Given the description of an element on the screen output the (x, y) to click on. 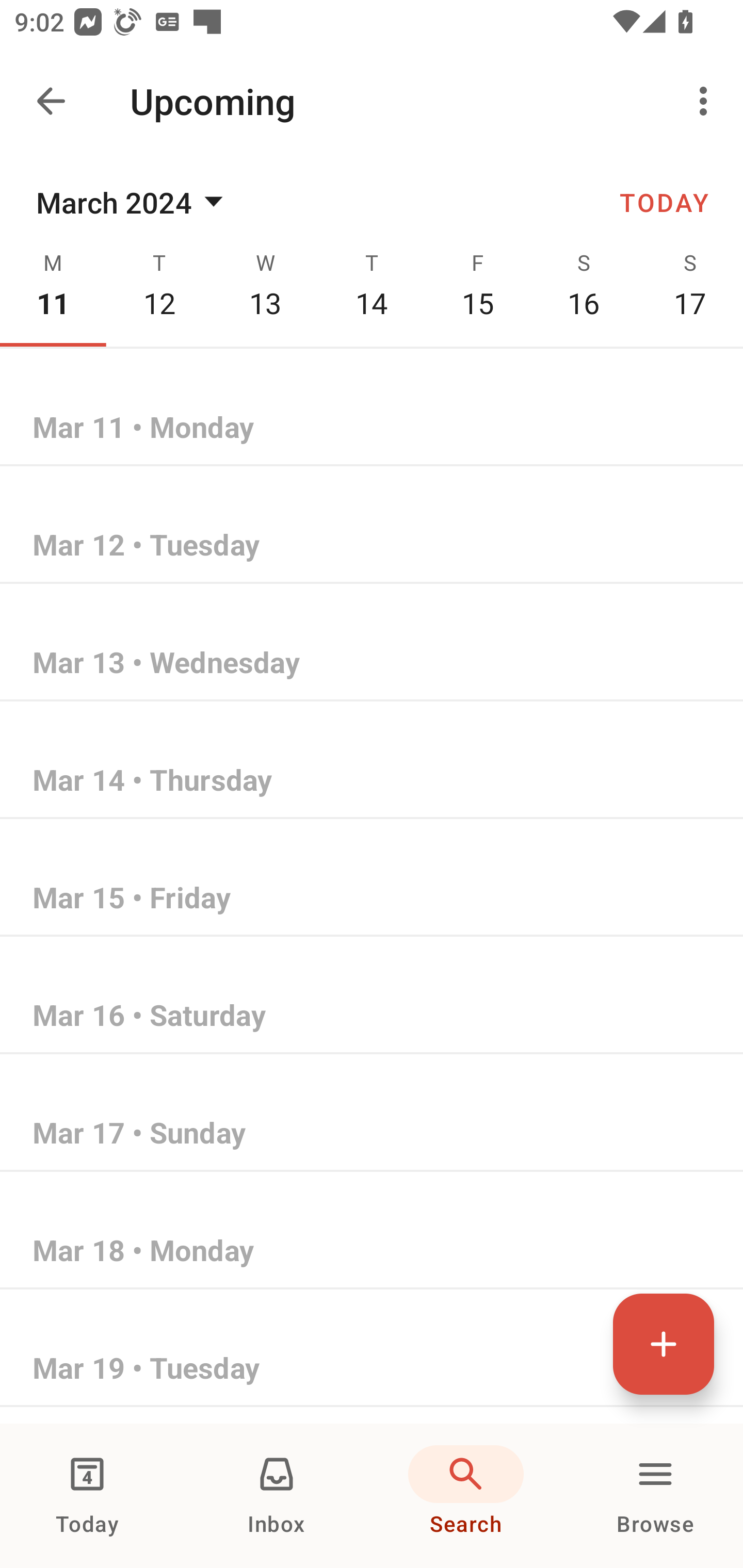
Navigate up Upcoming More options (371, 100)
Navigate up (50, 101)
More options (706, 101)
March 2024 (133, 202)
TODAY (663, 202)
Mar 10 • Sunday (371, 310)
Mar 11 • Monday (371, 428)
Mar 12 • Tuesday (371, 545)
Mar 13 • Wednesday (371, 663)
Mar 14 • Thursday (371, 780)
Mar 15 • Friday (371, 898)
Mar 16 • Saturday (371, 1016)
Mar 17 • Sunday (371, 1133)
Mar 18 • Monday (371, 1251)
Quick add (663, 1343)
Mar 19 • Tuesday (371, 1368)
Today (87, 1495)
Inbox (276, 1495)
Browse (655, 1495)
